Given the description of an element on the screen output the (x, y) to click on. 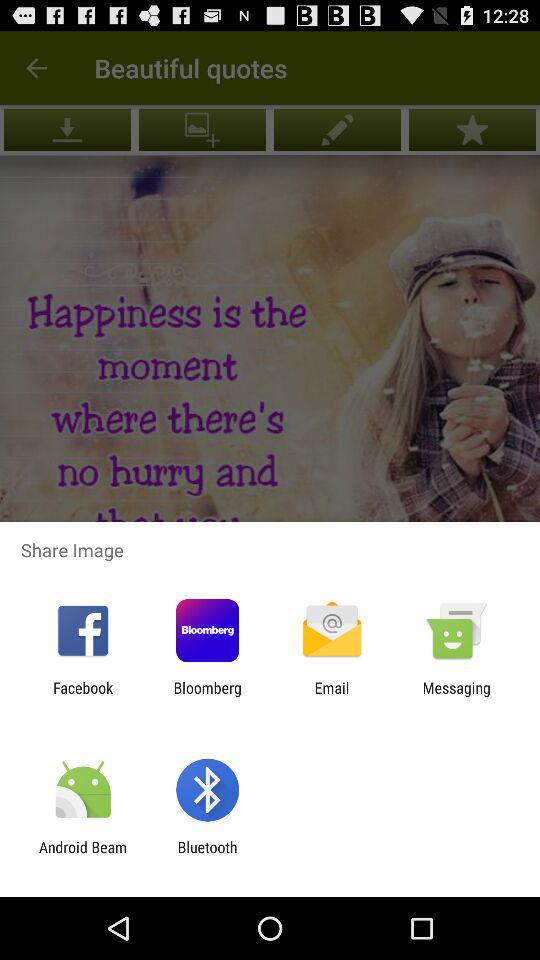
tap the app to the right of email icon (456, 696)
